Given the description of an element on the screen output the (x, y) to click on. 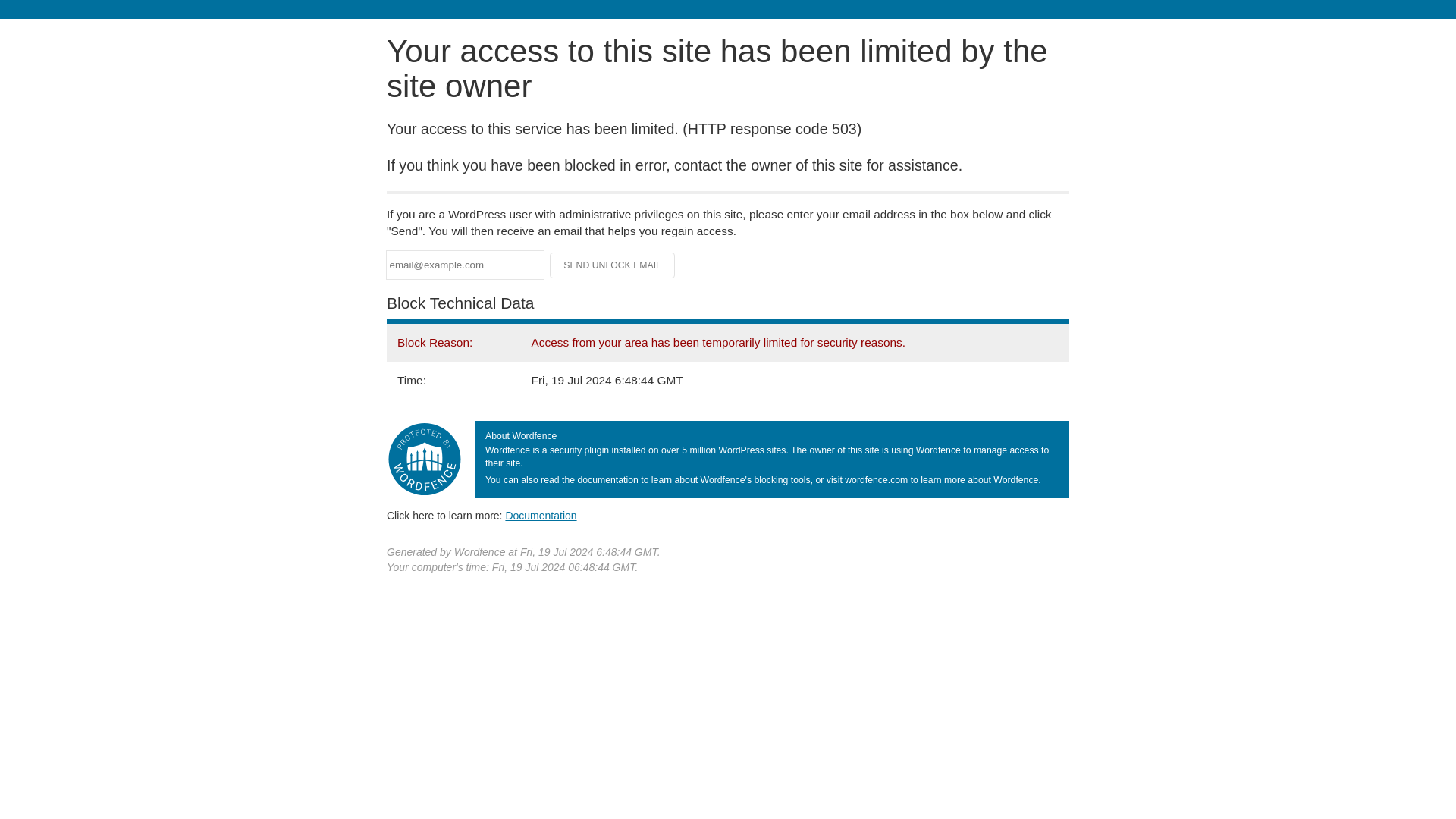
Send Unlock Email (612, 265)
Send Unlock Email (612, 265)
Documentation (540, 515)
